Given the description of an element on the screen output the (x, y) to click on. 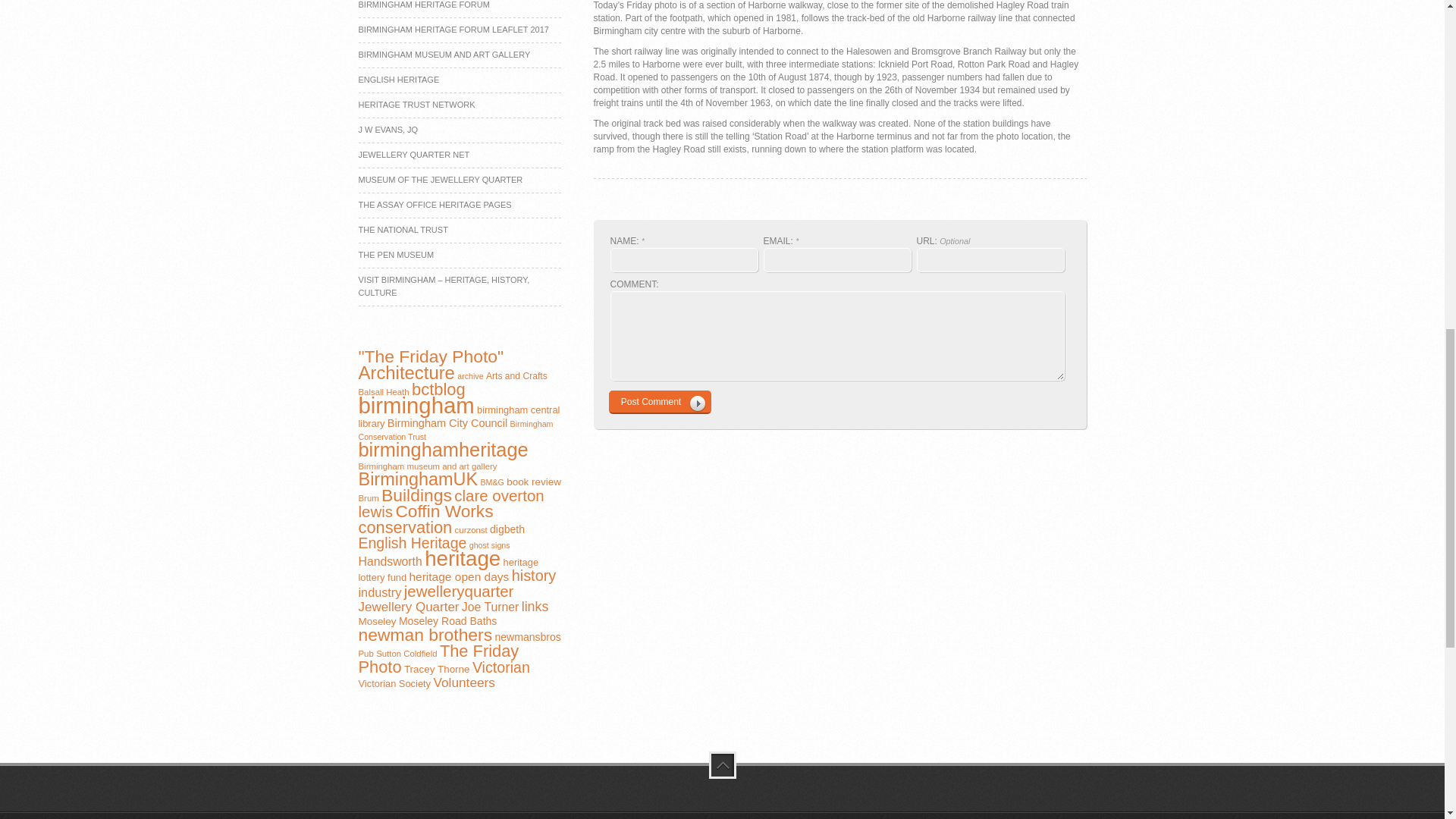
Birmingham Heritage Forum leaflet 2017 (453, 29)
Go to Top! (721, 764)
Post Comment (659, 402)
